Given the description of an element on the screen output the (x, y) to click on. 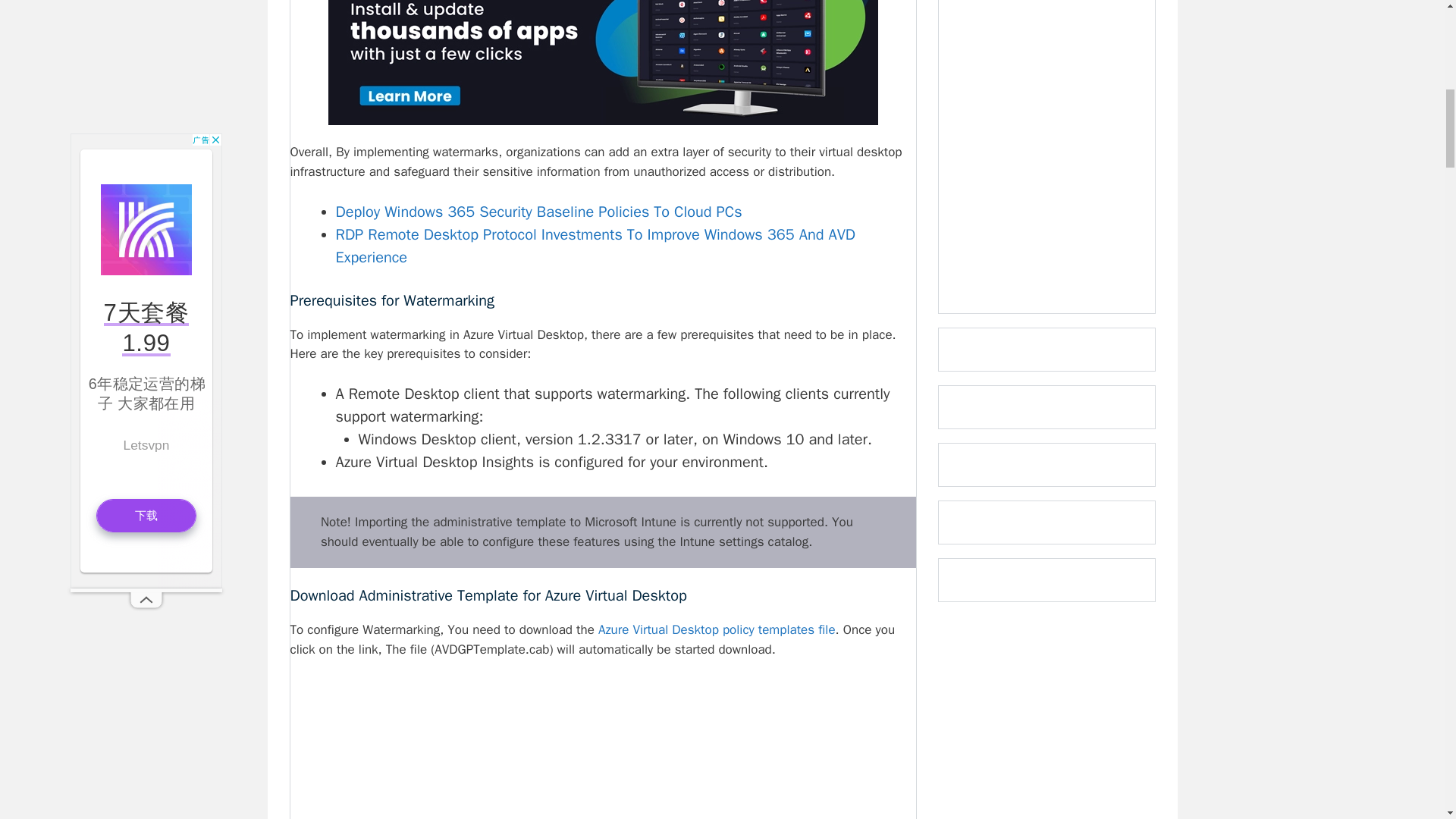
Deploy Windows 365 Security Baseline Policies To Cloud PCs (537, 211)
Azure Virtual Desktop policy templates file (716, 629)
